Given the description of an element on the screen output the (x, y) to click on. 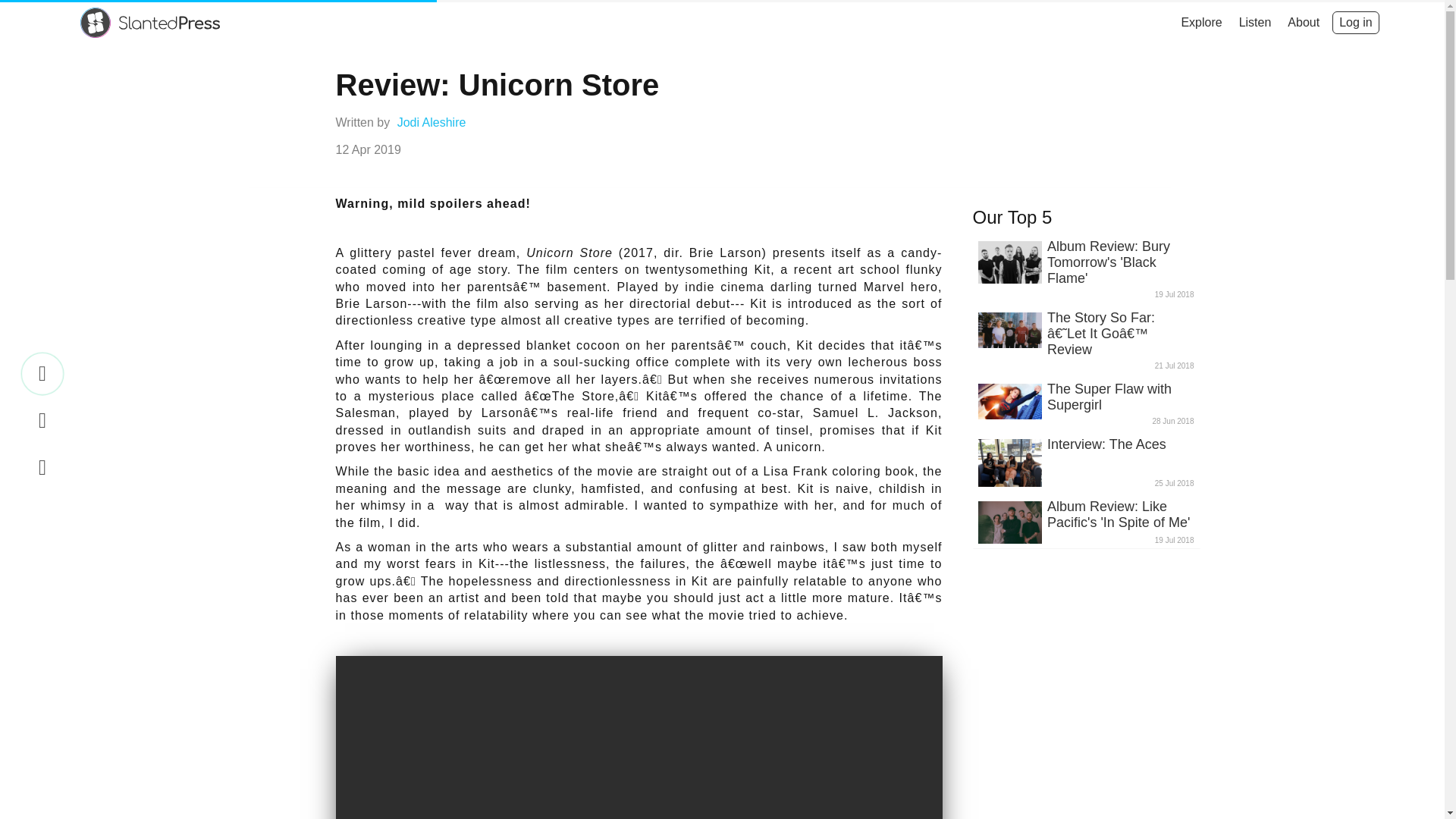
About (1303, 22)
Explore (1200, 22)
Log in (1355, 22)
Listen (1254, 22)
Jodi Aleshire (431, 122)
